Given the description of an element on the screen output the (x, y) to click on. 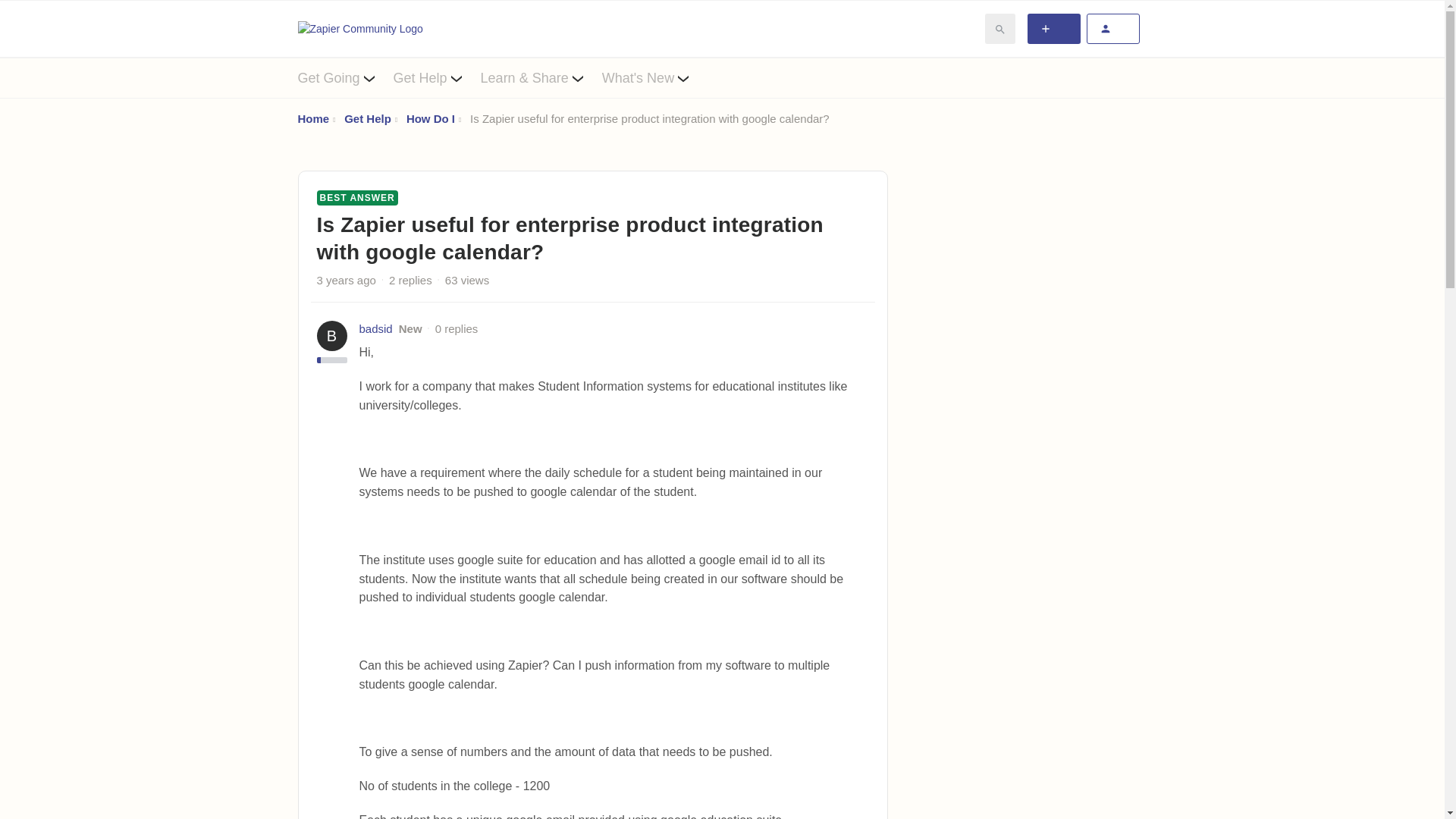
Get Going (345, 77)
Home (313, 118)
Get Help (436, 77)
What's New (654, 77)
Get Help (367, 118)
badsid (376, 329)
